Given the description of an element on the screen output the (x, y) to click on. 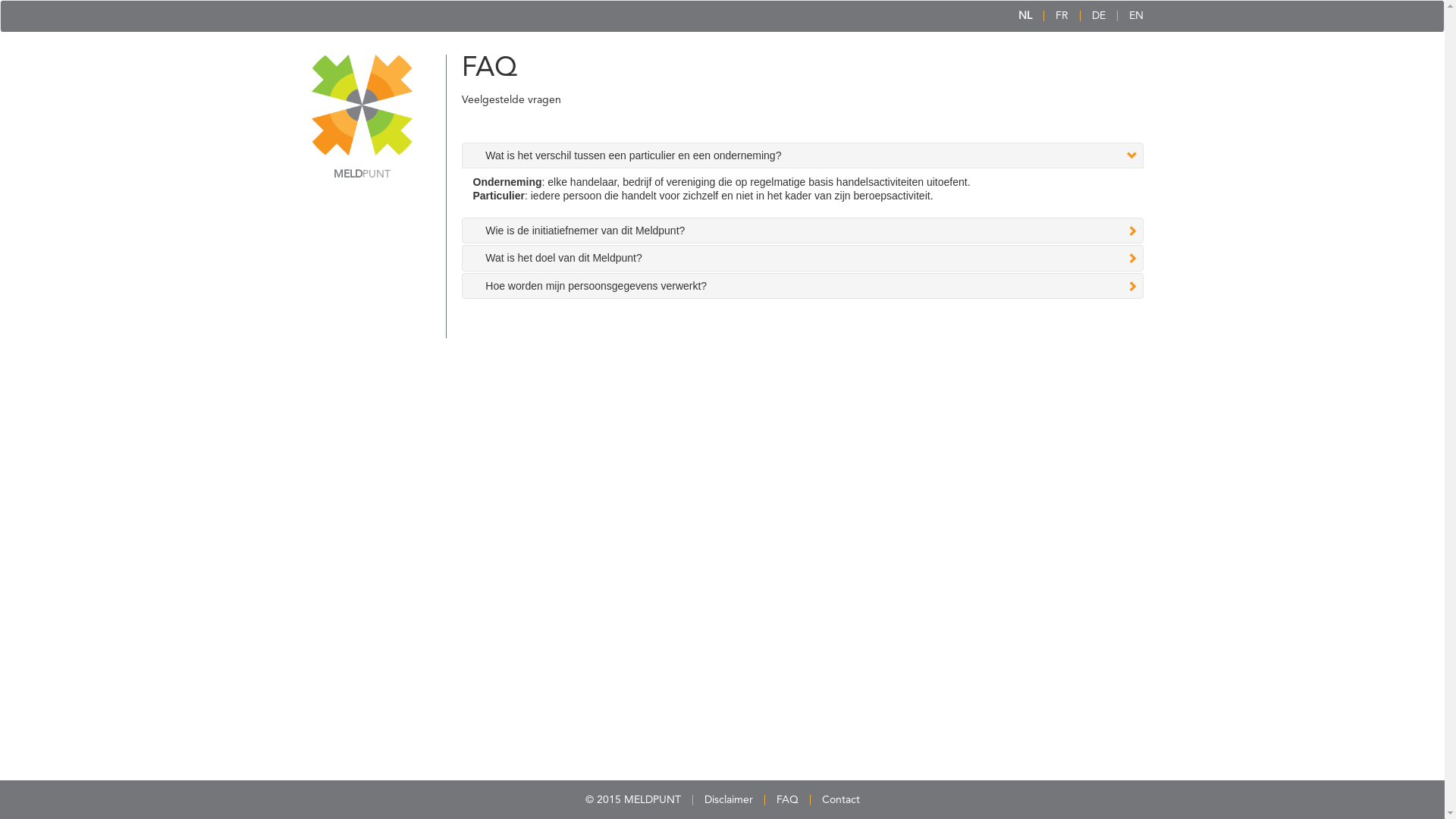
EN Element type: text (1135, 15)
FR Element type: text (1061, 15)
DE Element type: text (1098, 15)
Disclaimer Element type: text (727, 799)
Contact Element type: text (840, 799)
NL Element type: text (1024, 15)
FAQ Element type: text (787, 799)
